Given the description of an element on the screen output the (x, y) to click on. 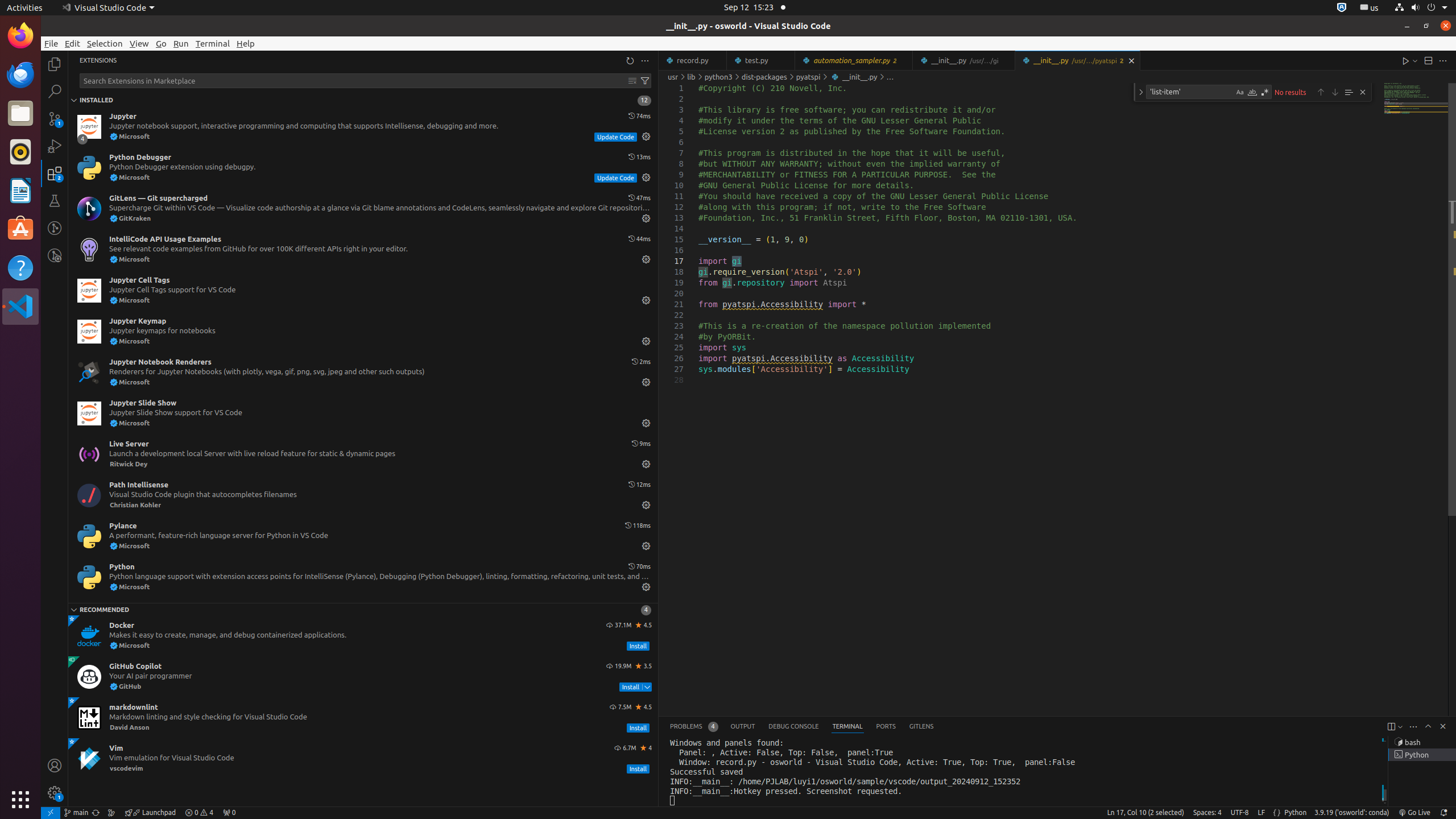
Ln 17, Col 10 (2 selected) Element type: push-button (1144, 812)
OSWorld (Git) - Synchronize Changes Element type: push-button (95, 812)
